Given the description of an element on the screen output the (x, y) to click on. 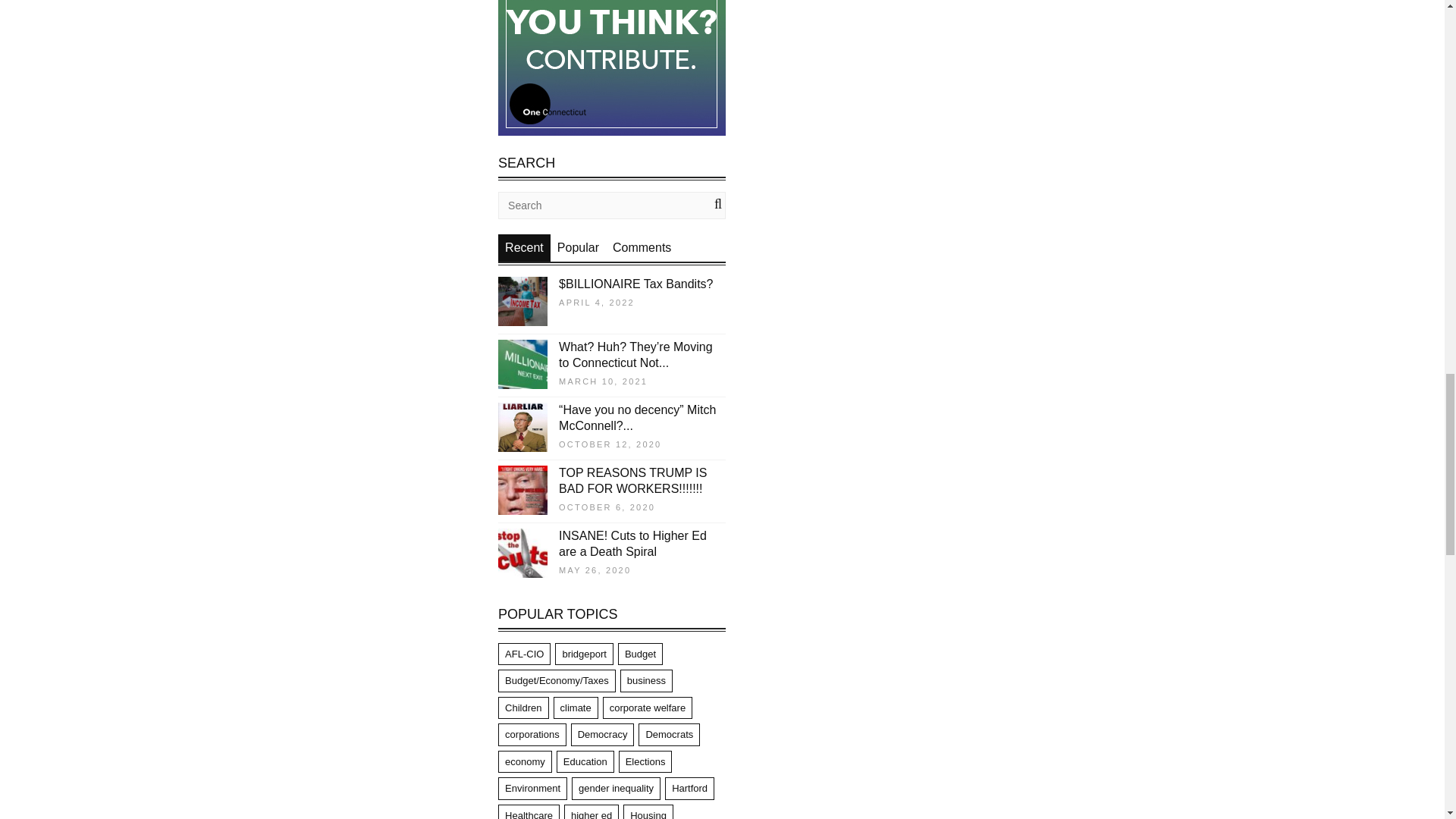
Recent (524, 246)
Comments (641, 246)
Popular (577, 246)
